Given the description of an element on the screen output the (x, y) to click on. 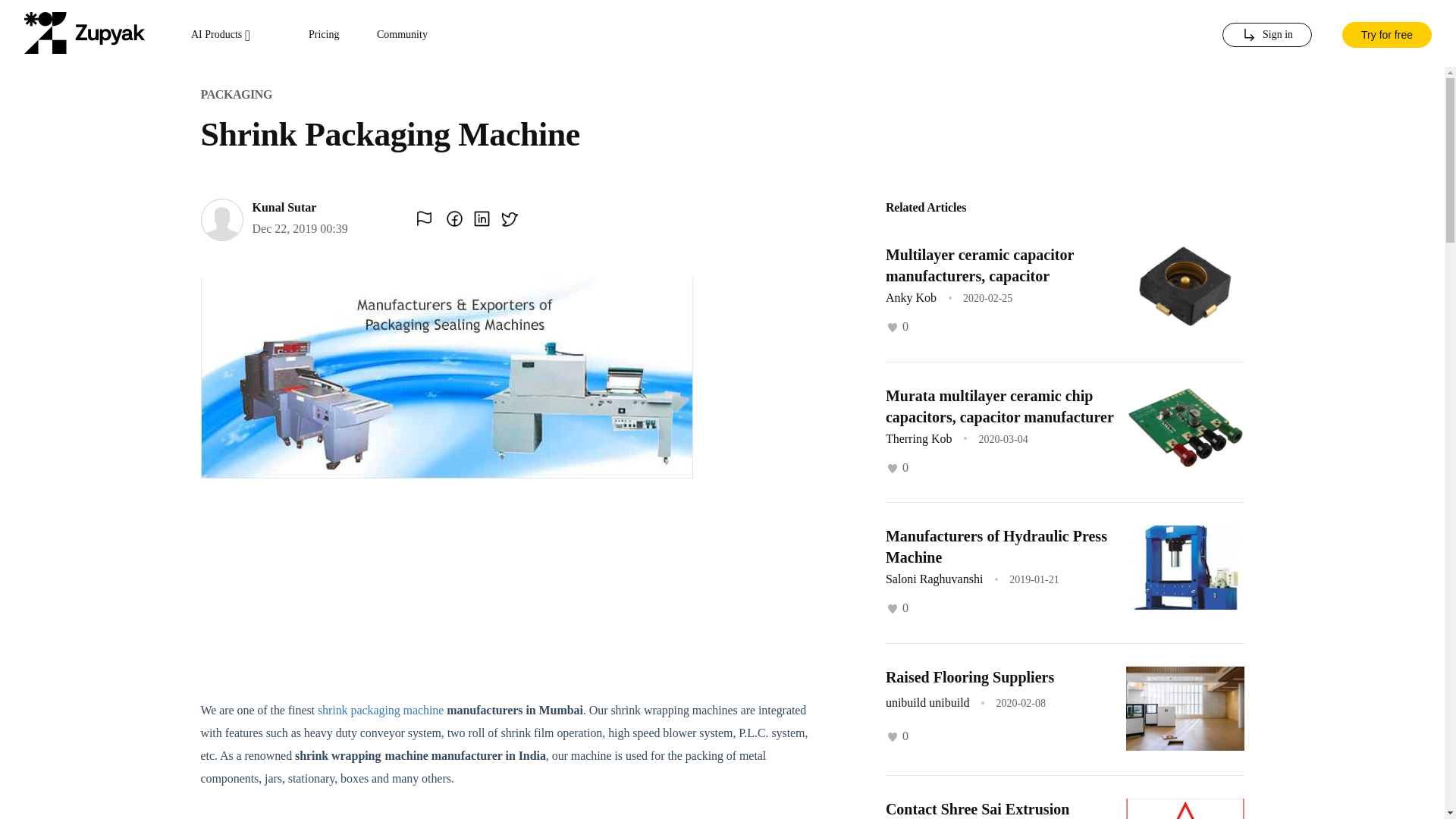
Community (402, 34)
 Sign in (1267, 34)
Manufacturers of Hydraulic Press Machine (995, 546)
shrink packaging machine (380, 709)
Raised Flooring Suppliers (969, 677)
Pricing (323, 34)
Try for free (1386, 33)
